Given the description of an element on the screen output the (x, y) to click on. 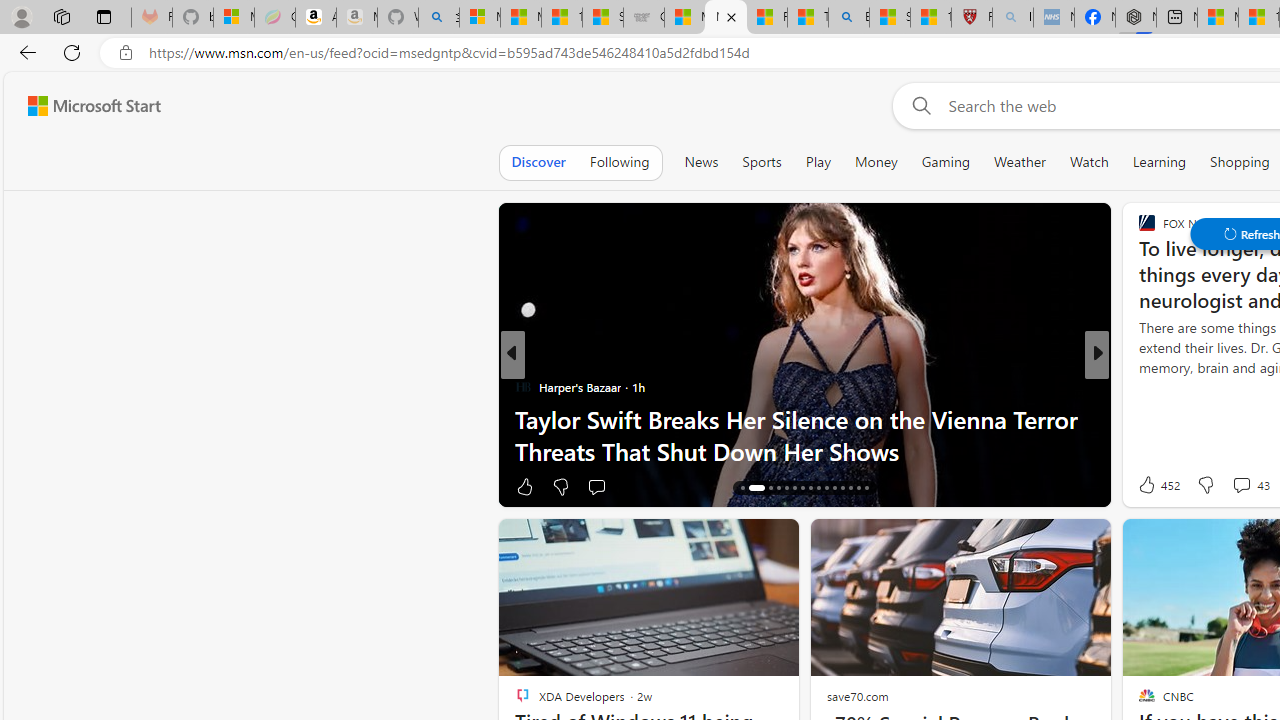
AutomationID: tab-27 (842, 487)
SlashGear (1138, 418)
HowToGeek (1138, 386)
Work From Home With Surveys (804, 450)
The Register (1138, 386)
AutomationID: tab-28 (850, 487)
237 Like (1151, 486)
